Given the description of an element on the screen output the (x, y) to click on. 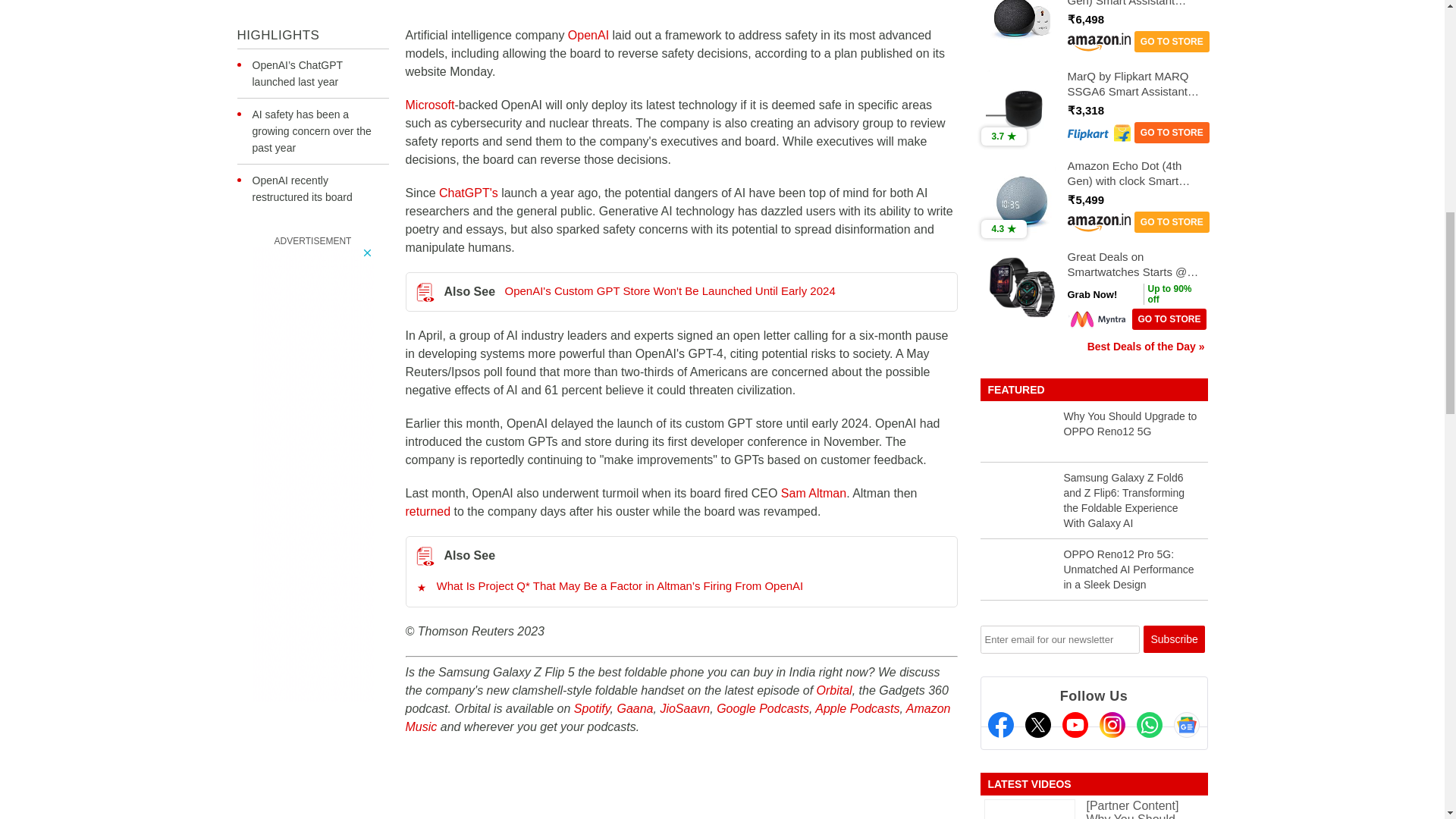
Subscribe (1173, 638)
